Given the description of an element on the screen output the (x, y) to click on. 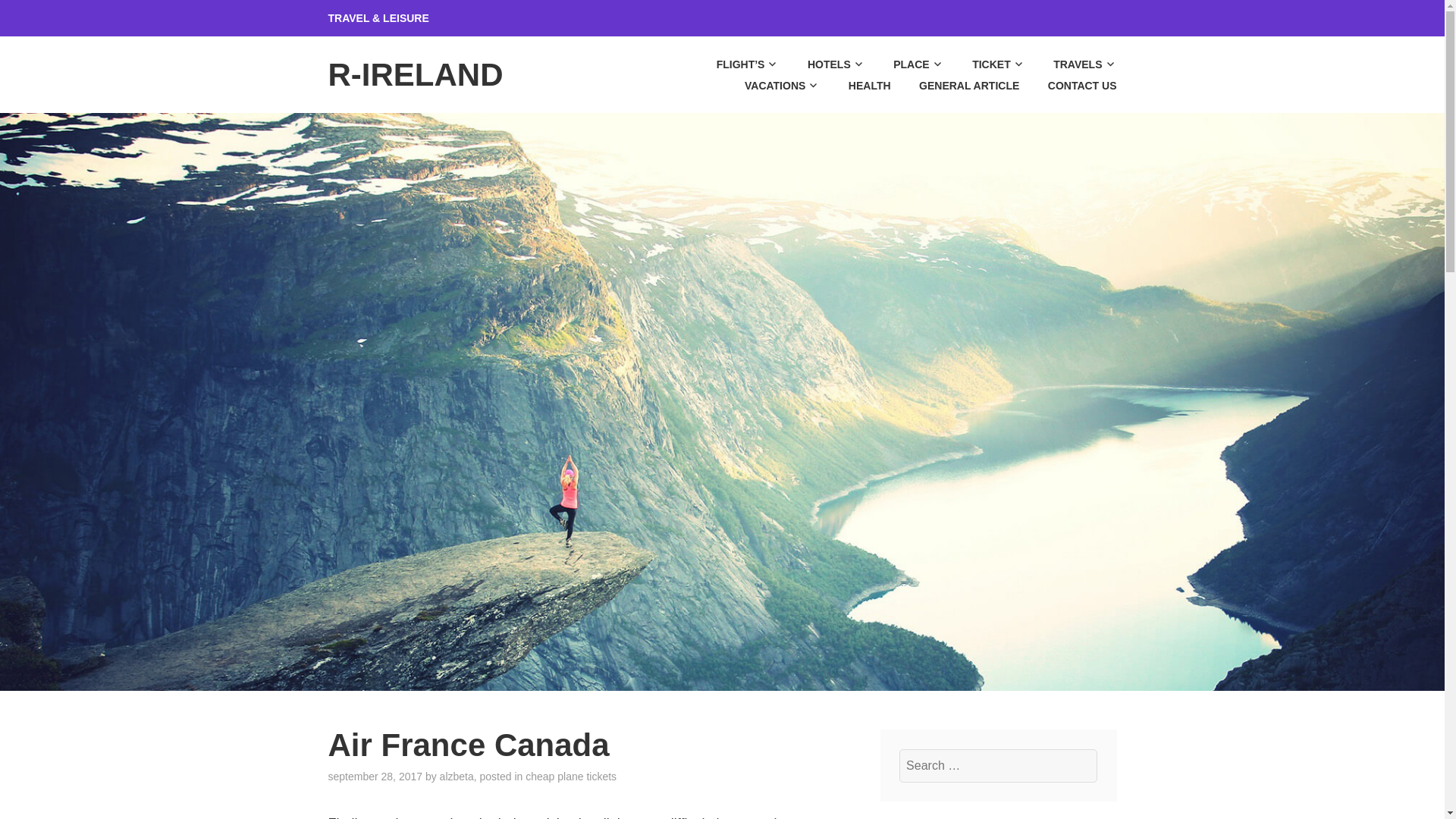
VACATIONS (769, 85)
september 28, 2017 (374, 776)
R-IRELAND (414, 74)
TRAVELS (1071, 64)
PLACE (905, 64)
GENERAL ARTICLE (956, 85)
alzbeta (456, 776)
CONTACT US (1069, 85)
cheap plane tickets (570, 776)
HEALTH (855, 85)
Search (48, 17)
HOTELS (822, 64)
TICKET (986, 64)
